Given the description of an element on the screen output the (x, y) to click on. 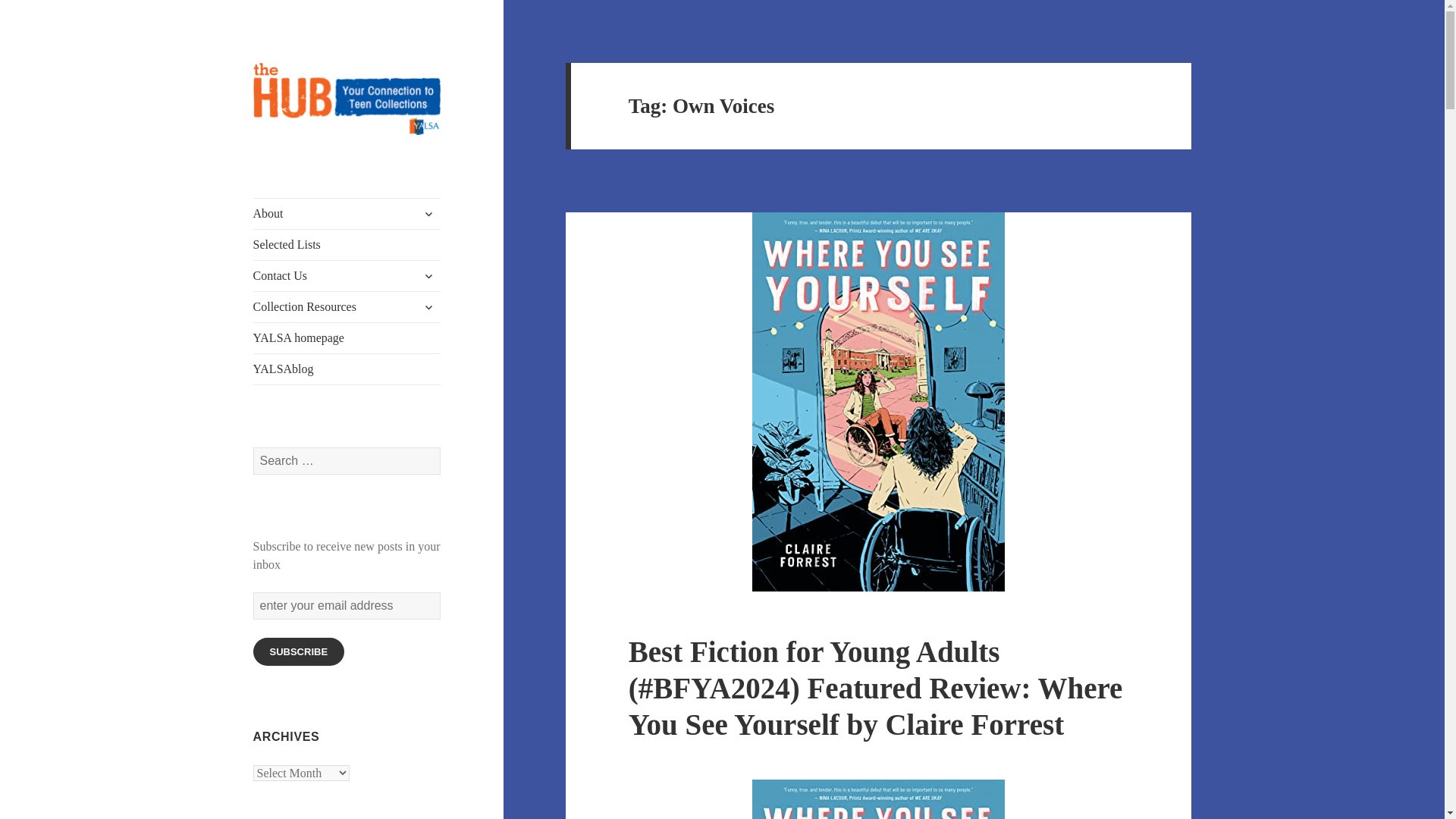
expand child menu (428, 275)
Selected Lists (347, 245)
YALSA homepage (347, 337)
YALSAblog (347, 368)
expand child menu (428, 306)
About (347, 214)
Contact Us (347, 276)
